Given the description of an element on the screen output the (x, y) to click on. 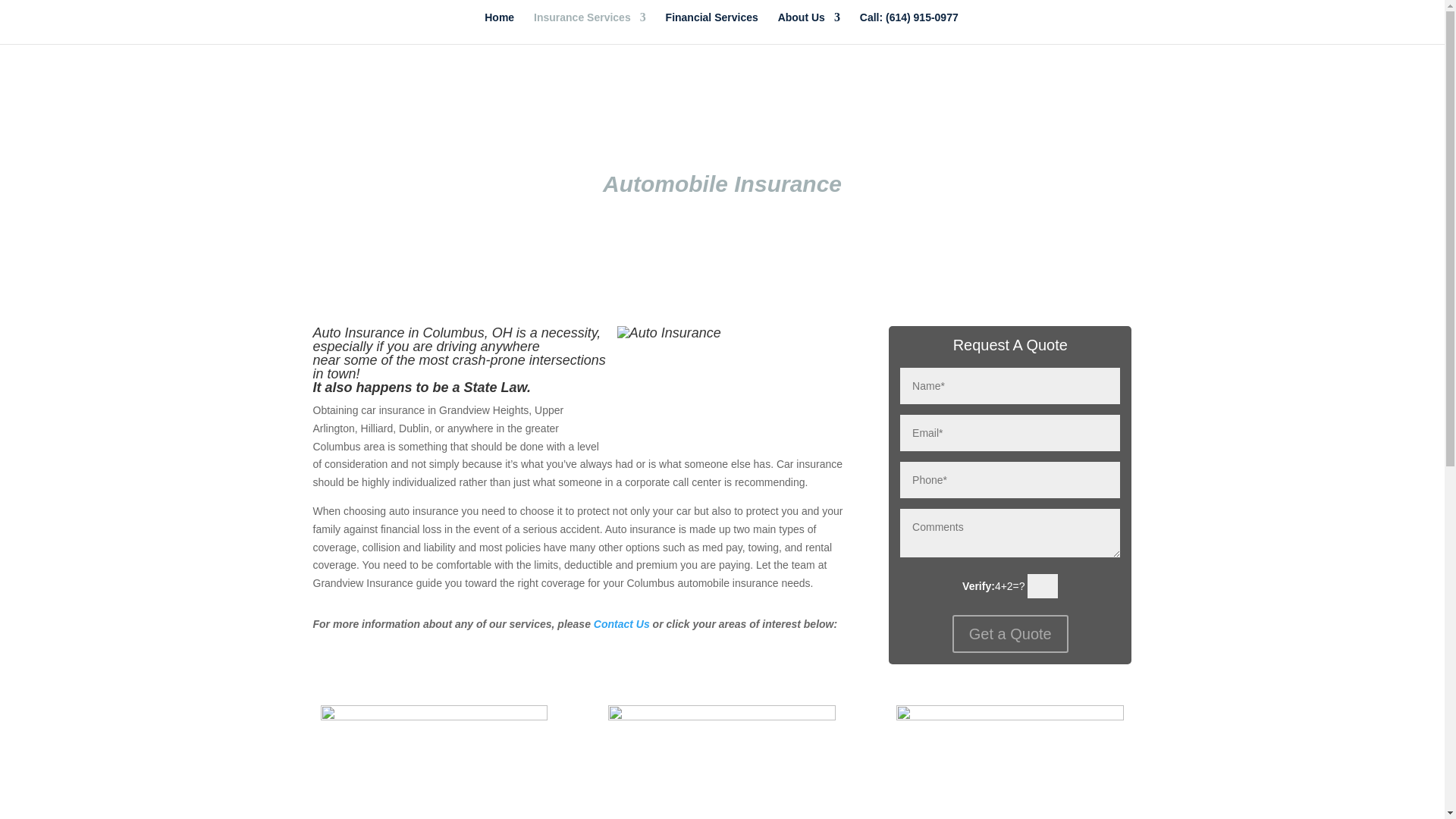
State Law (495, 387)
HOME (433, 817)
Financial Services (711, 28)
BUSINESS (721, 818)
Insurance Services (590, 28)
most crash-prone intersections (512, 359)
LIFE (1010, 818)
Get a Quote (1010, 633)
Contact Us (621, 623)
Get a Quote (1010, 633)
Home (498, 28)
About Us (808, 28)
Contact Us (621, 623)
